Given the description of an element on the screen output the (x, y) to click on. 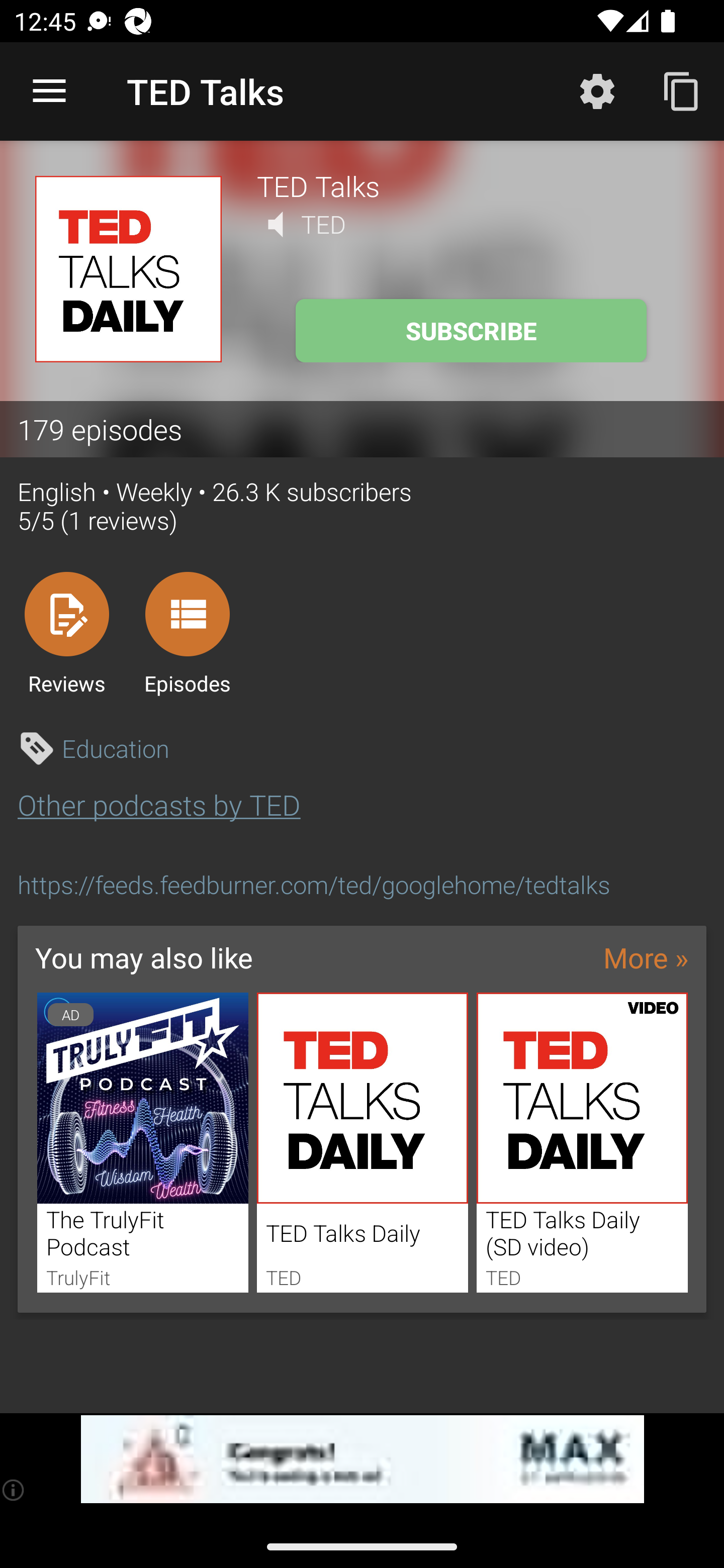
Open navigation sidebar (49, 91)
Settings (597, 90)
Copy feed url to clipboard (681, 90)
TED Talks (472, 185)
SUBSCRIBE (470, 330)
Reviews (66, 633)
Episodes (187, 633)
Other podcasts by TED (158, 804)
More » (645, 956)
AD The TrulyFit Podcast TrulyFit (142, 1142)
TED Talks Daily TED (362, 1142)
TED Talks Daily (SD video) TED (581, 1142)
app-monetization (362, 1459)
(i) (14, 1489)
